Given the description of an element on the screen output the (x, y) to click on. 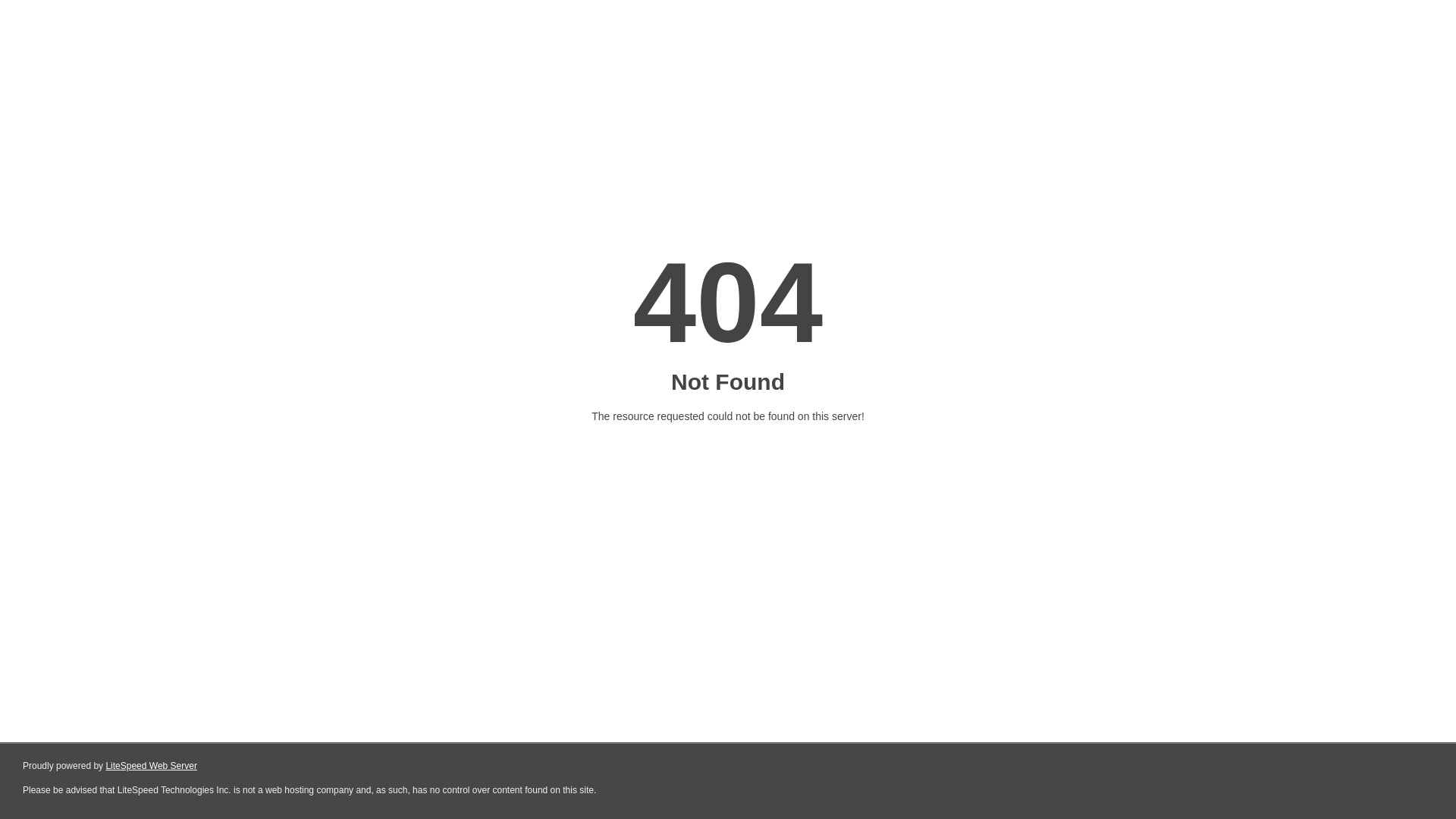
LiteSpeed Web Server Element type: text (151, 765)
